Given the description of an element on the screen output the (x, y) to click on. 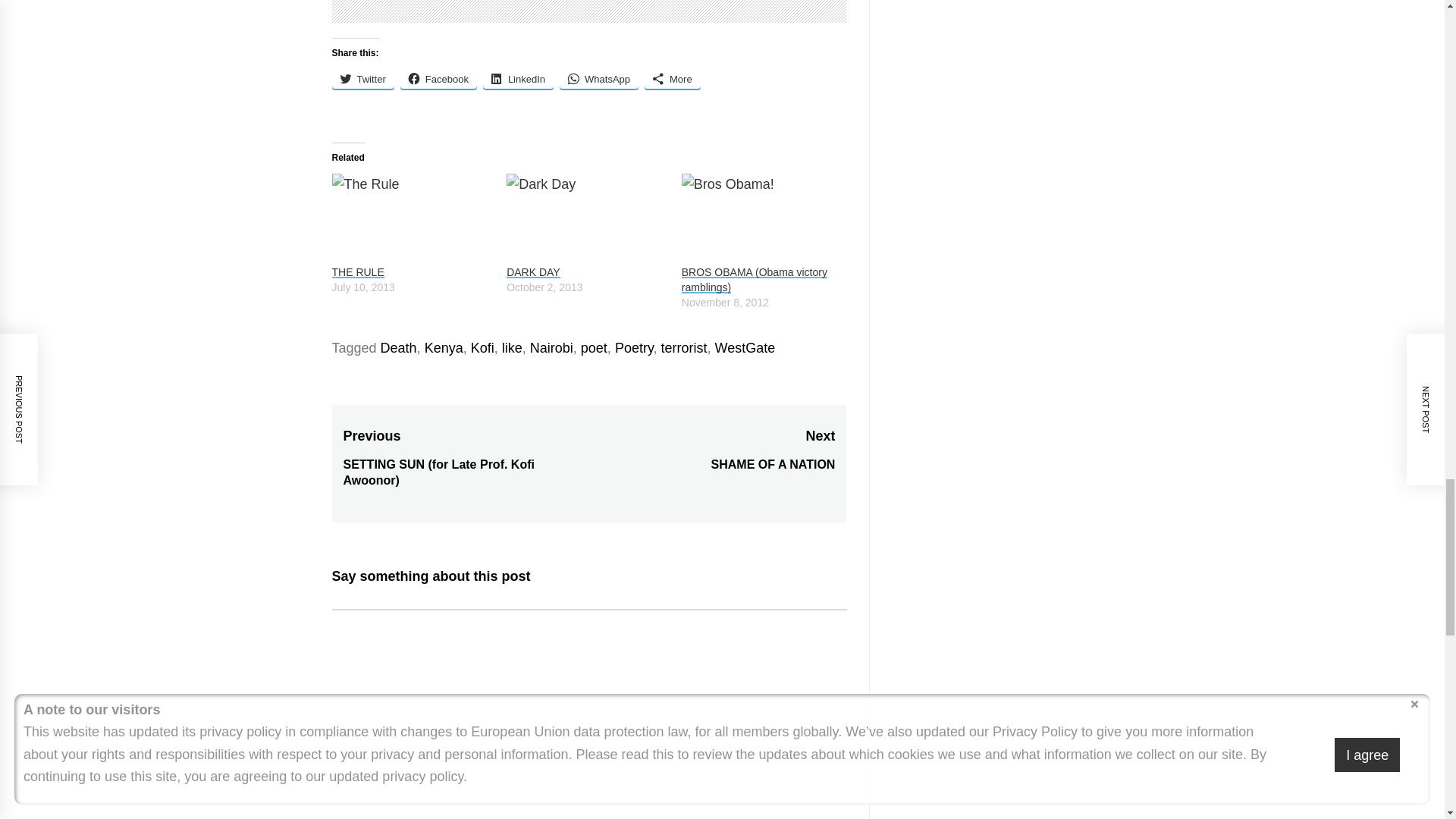
Click to share on Facebook (438, 78)
Click to share on LinkedIn (518, 78)
Click to share on Twitter (362, 78)
